Given the description of an element on the screen output the (x, y) to click on. 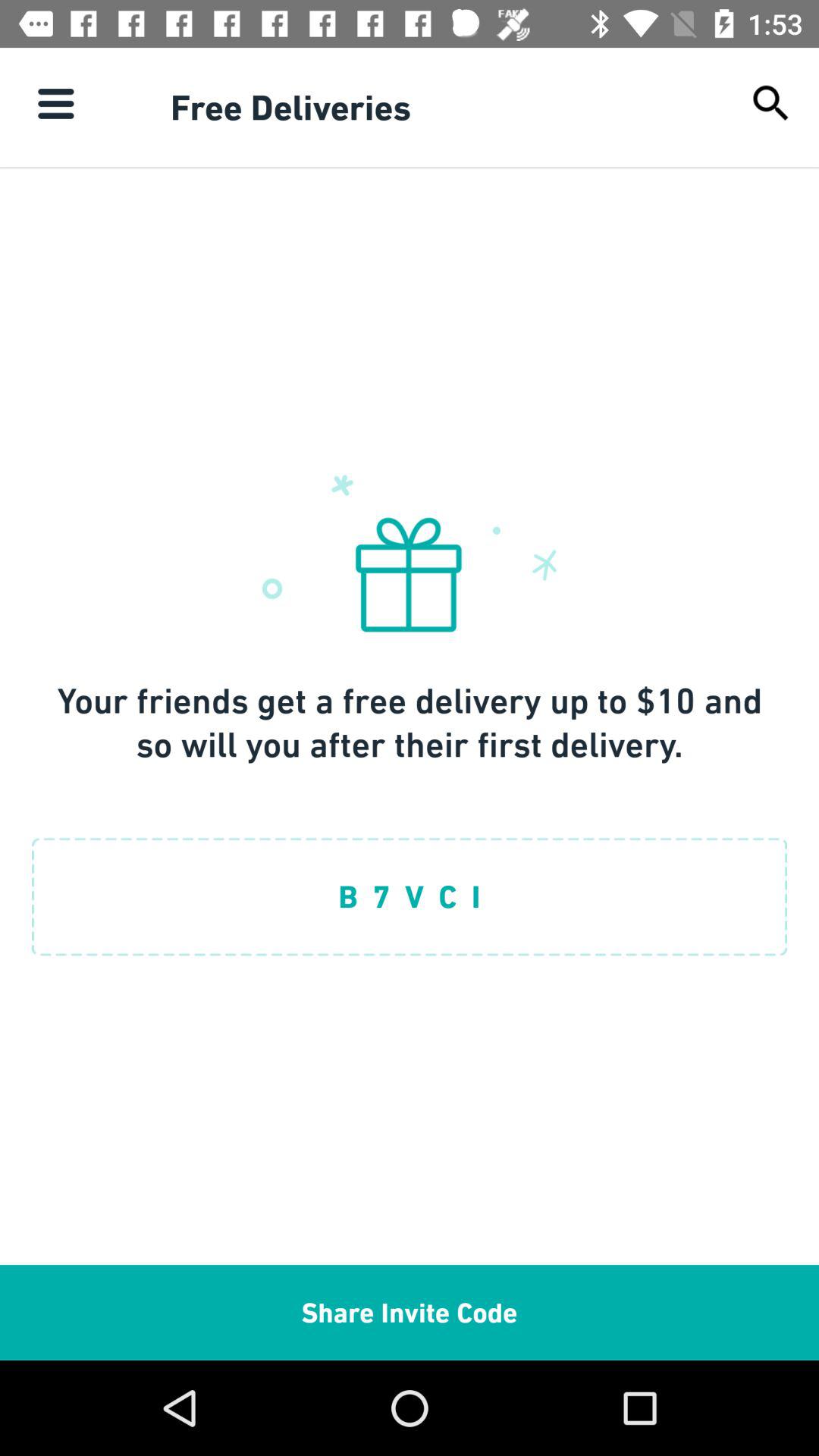
tap the item next to the free deliveries icon (55, 103)
